Given the description of an element on the screen output the (x, y) to click on. 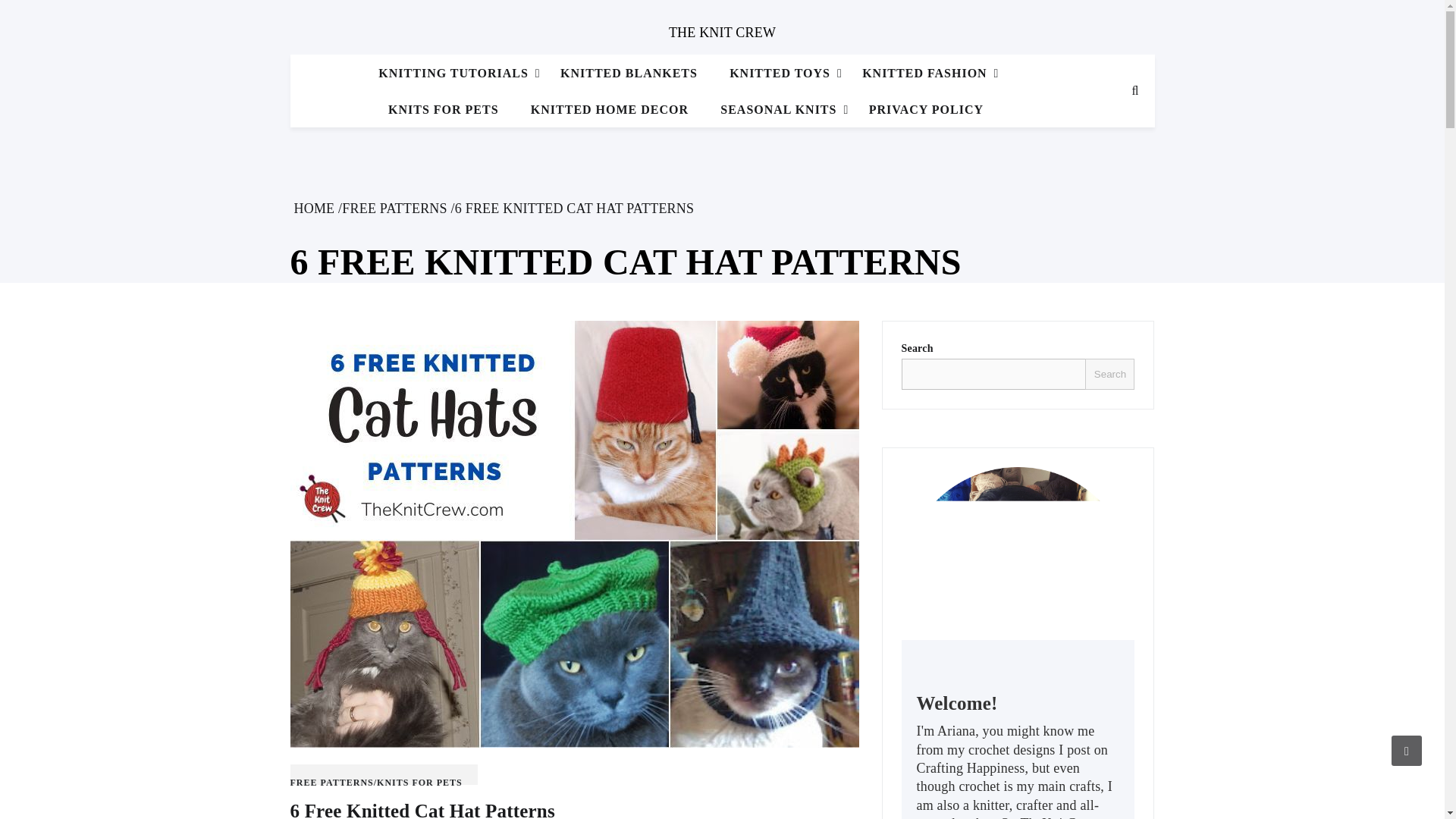
SEASONAL KNITS (778, 109)
THE KNIT CREW (722, 32)
HOME (314, 208)
Go to Top (1406, 750)
KNITTED FASHION (924, 73)
6 Free Knitted Cat Hat Patterns (421, 809)
FREE PATTERNS (394, 208)
PRIVACY POLICY (925, 109)
KNITS FOR PETS (444, 109)
KNITTED BLANKETS (628, 73)
